Given the description of an element on the screen output the (x, y) to click on. 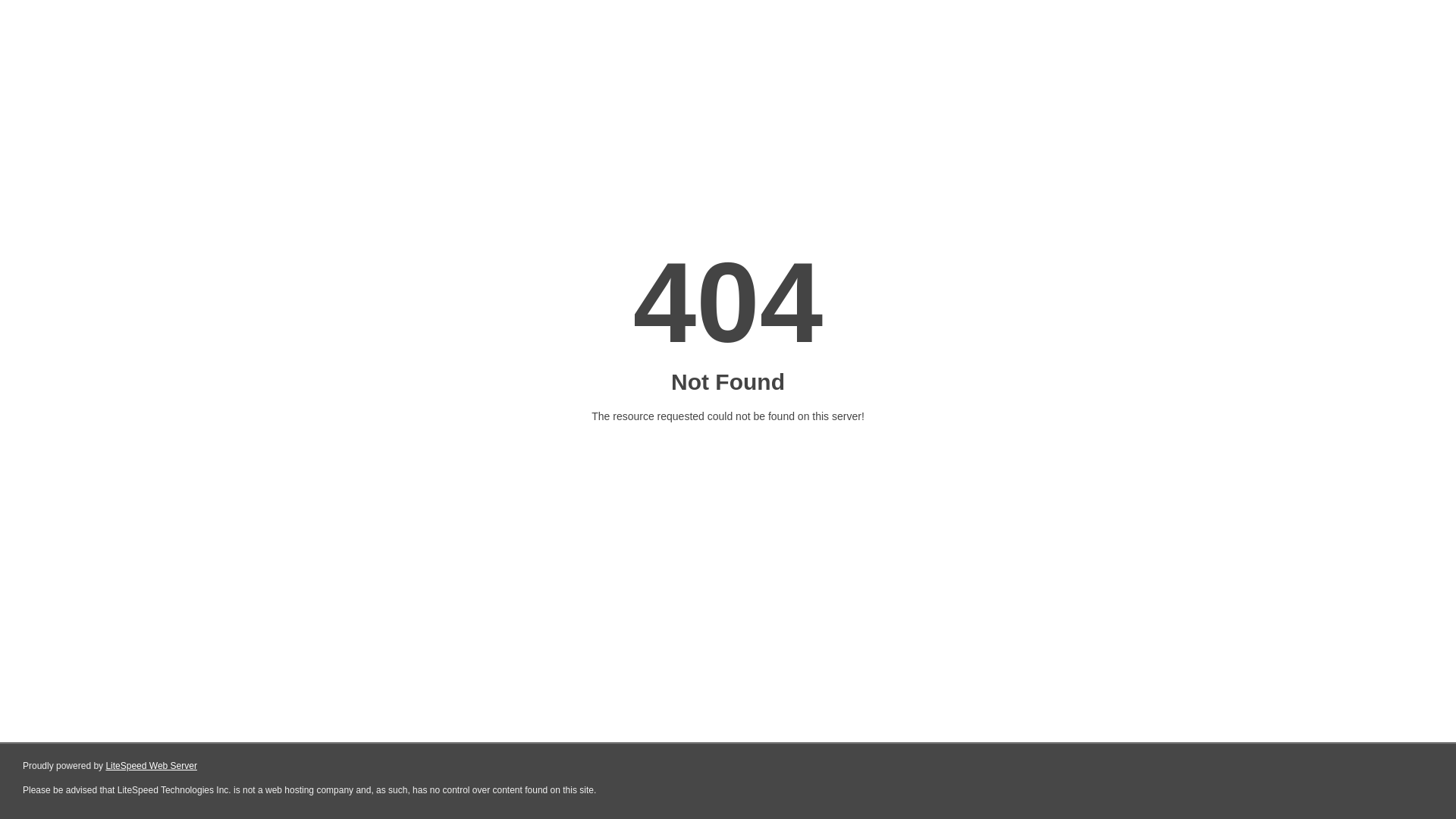
LiteSpeed Web Server Element type: text (151, 765)
